Given the description of an element on the screen output the (x, y) to click on. 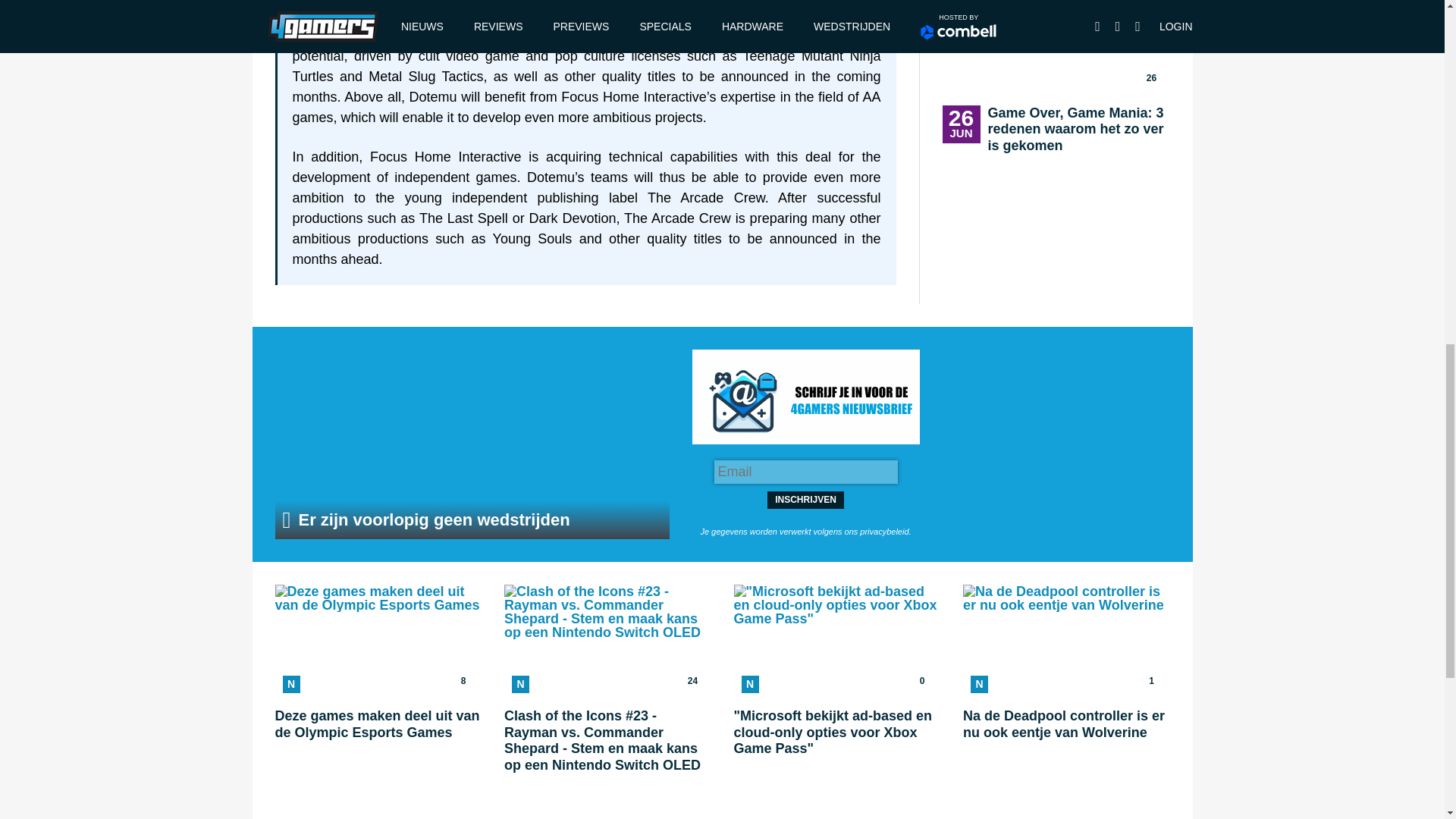
Inschrijven (805, 500)
Er zijn voorlopig geen wedstrijden (378, 678)
Inschrijven (471, 443)
Meld u aan om een reactie te plaatsen (805, 500)
